Given the description of an element on the screen output the (x, y) to click on. 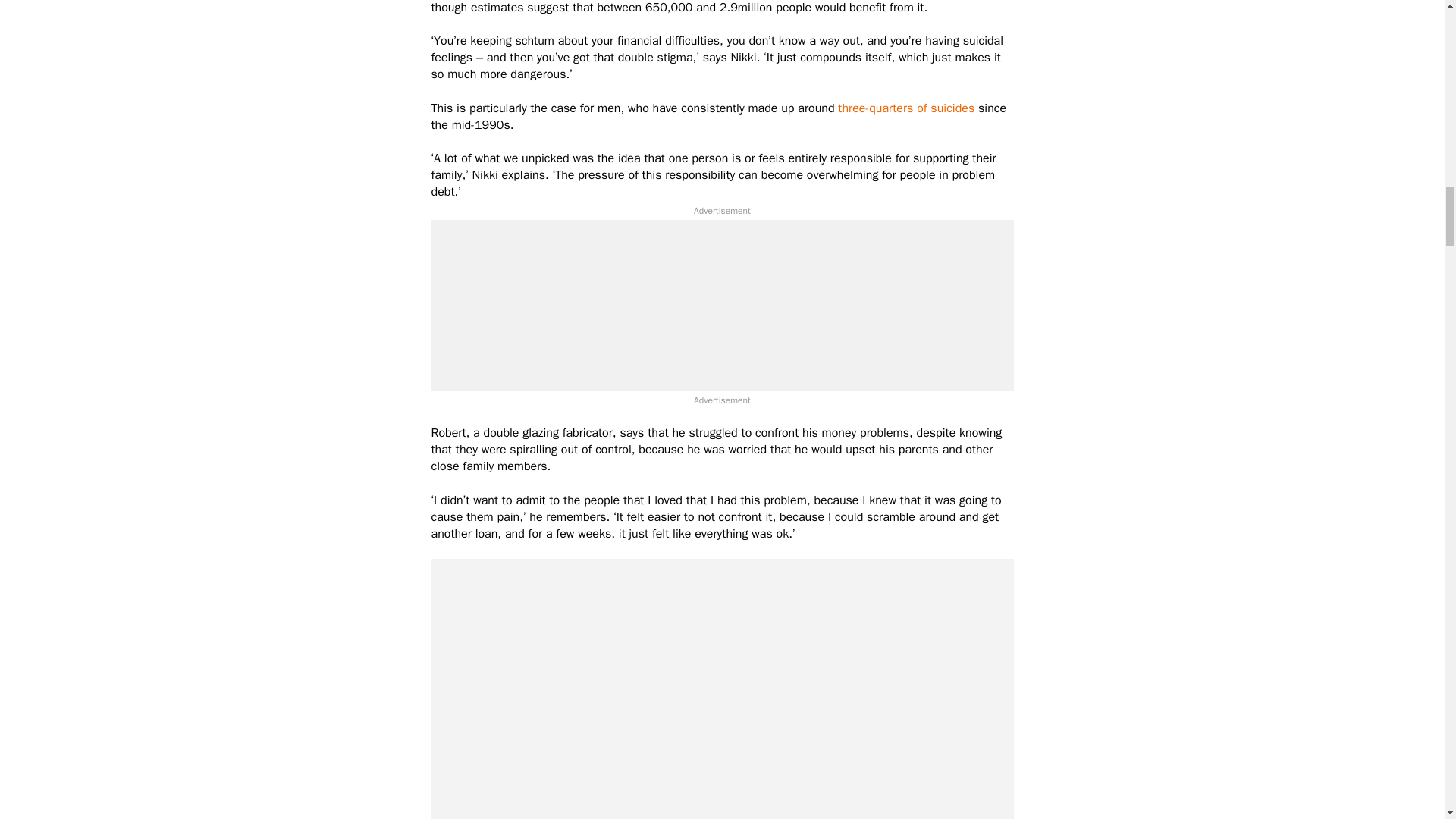
three-quarters of suicides (906, 108)
